Given the description of an element on the screen output the (x, y) to click on. 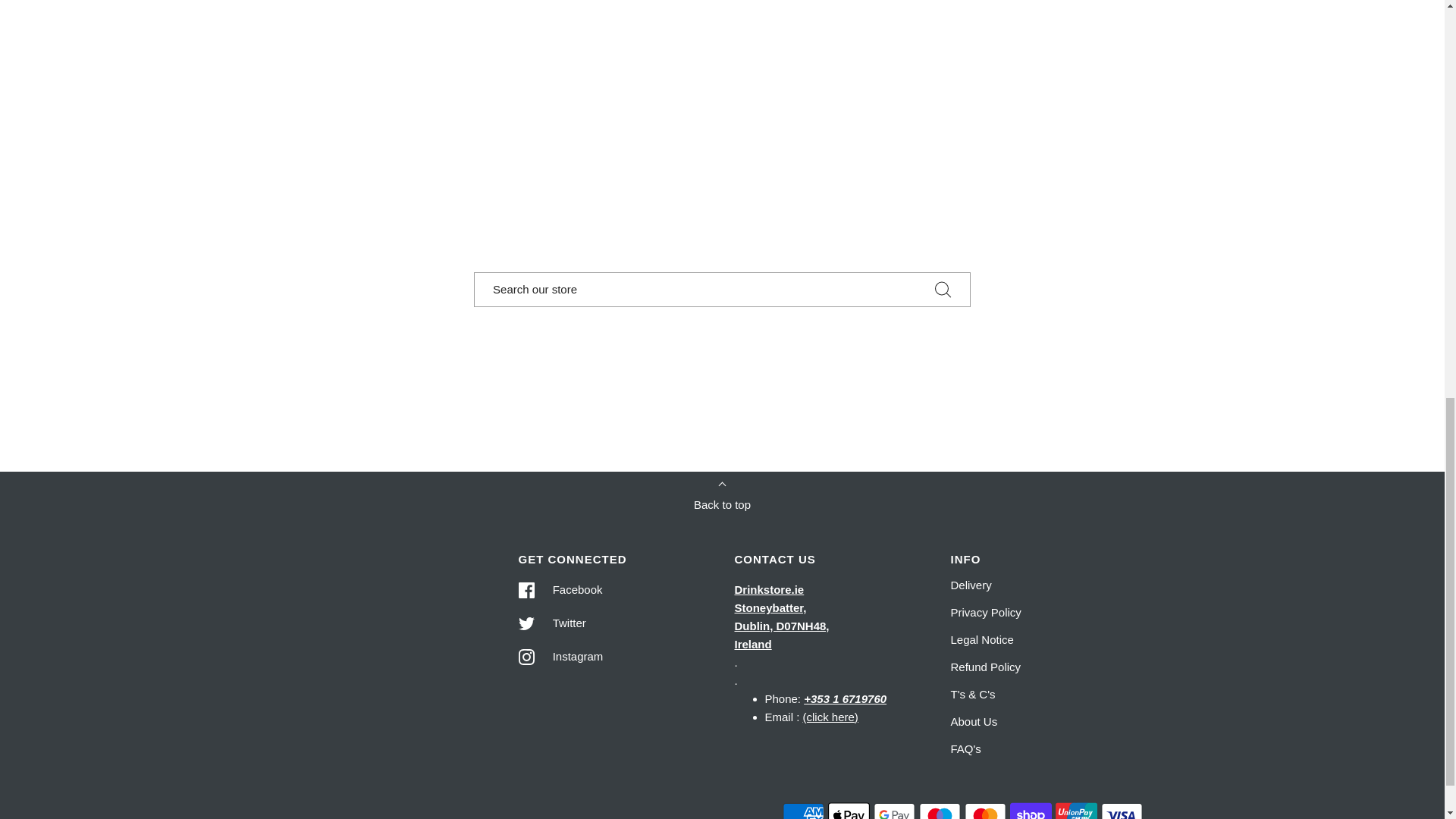
Maestro (939, 809)
Call Us (844, 698)
Twitter icon (526, 623)
Instagram icon (526, 657)
Union Pay (1076, 809)
Facebook icon (526, 590)
American Express (803, 809)
Contact Us (831, 716)
Google Pay (894, 809)
Shop Pay (1030, 809)
